Given the description of an element on the screen output the (x, y) to click on. 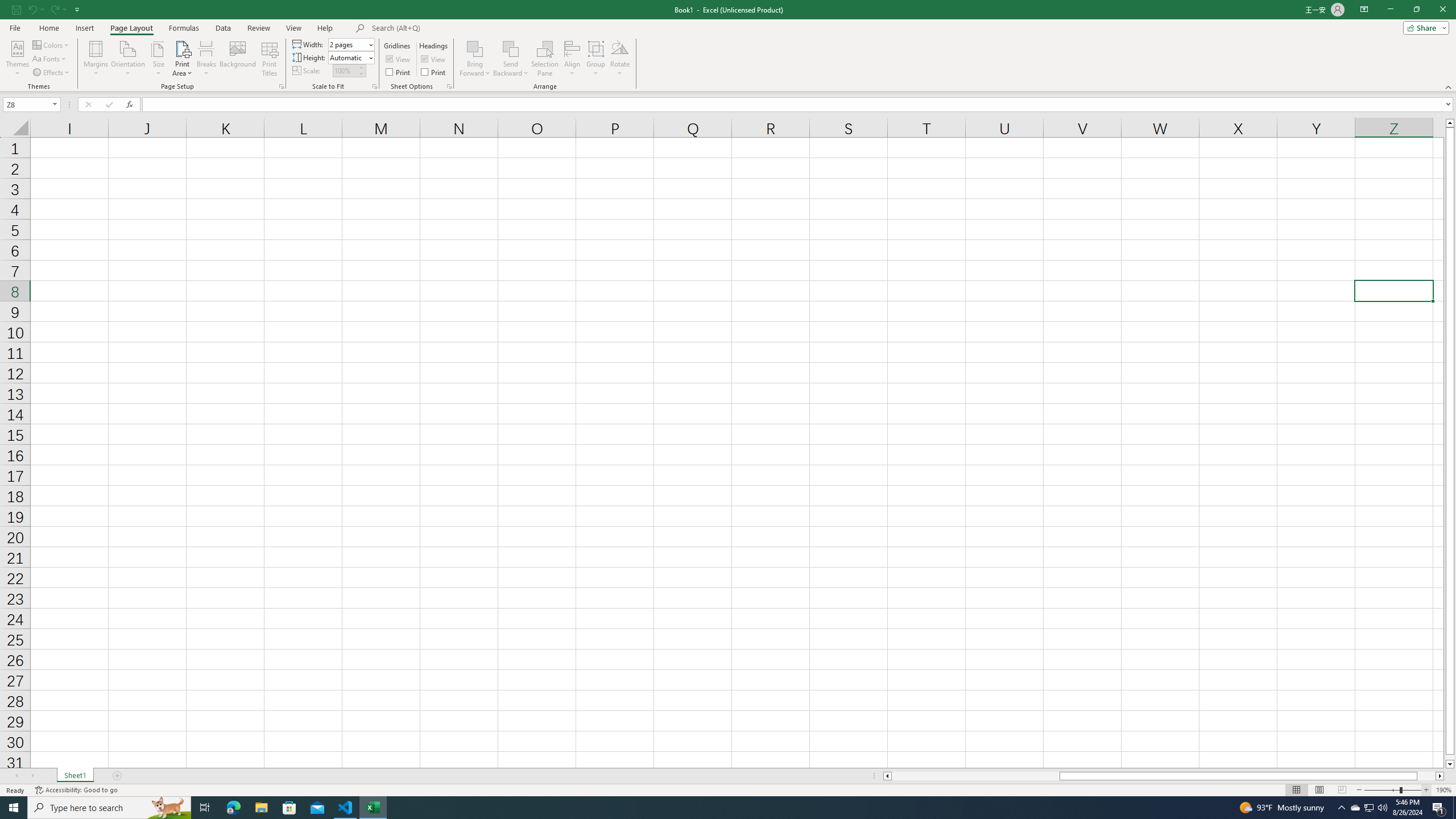
Redo (57, 9)
Page Break Preview (1342, 790)
Orientation (128, 58)
Page Setup (374, 85)
Bring Forward (475, 48)
Class: NetUIScrollBar (1163, 775)
Zoom In (1426, 790)
Rotate (619, 58)
Scroll Left (16, 775)
Quick Access Toolbar (46, 9)
Restore Down (1416, 9)
File Tab (15, 27)
Column left (886, 775)
Scale (344, 70)
